Given the description of an element on the screen output the (x, y) to click on. 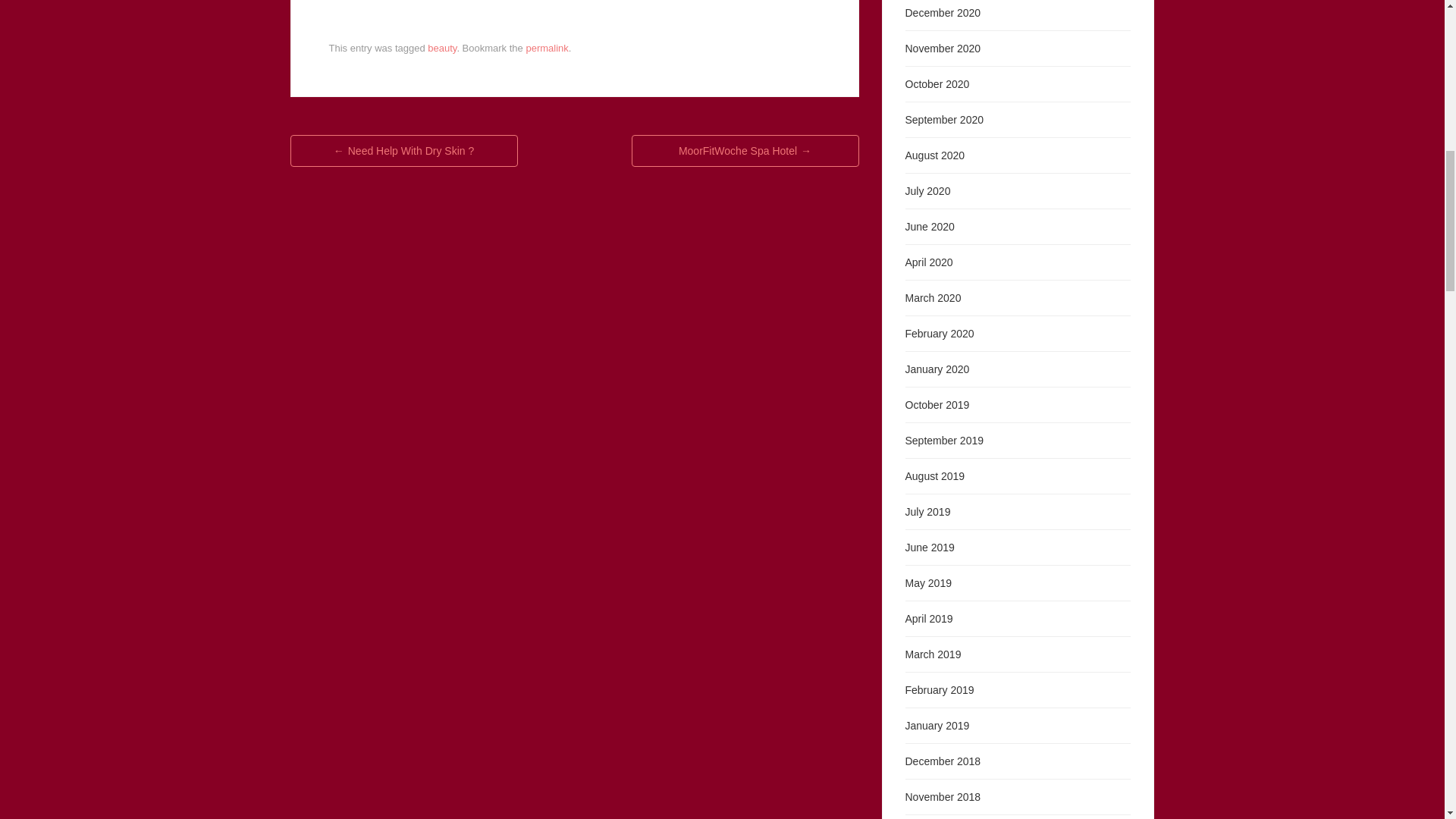
August 2019 (935, 476)
October 2019 (937, 404)
March 2019 (932, 654)
July 2019 (927, 511)
September 2020 (944, 119)
January 2020 (937, 369)
April 2019 (929, 618)
November 2020 (943, 48)
March 2020 (932, 297)
April 2020 (929, 262)
